Given the description of an element on the screen output the (x, y) to click on. 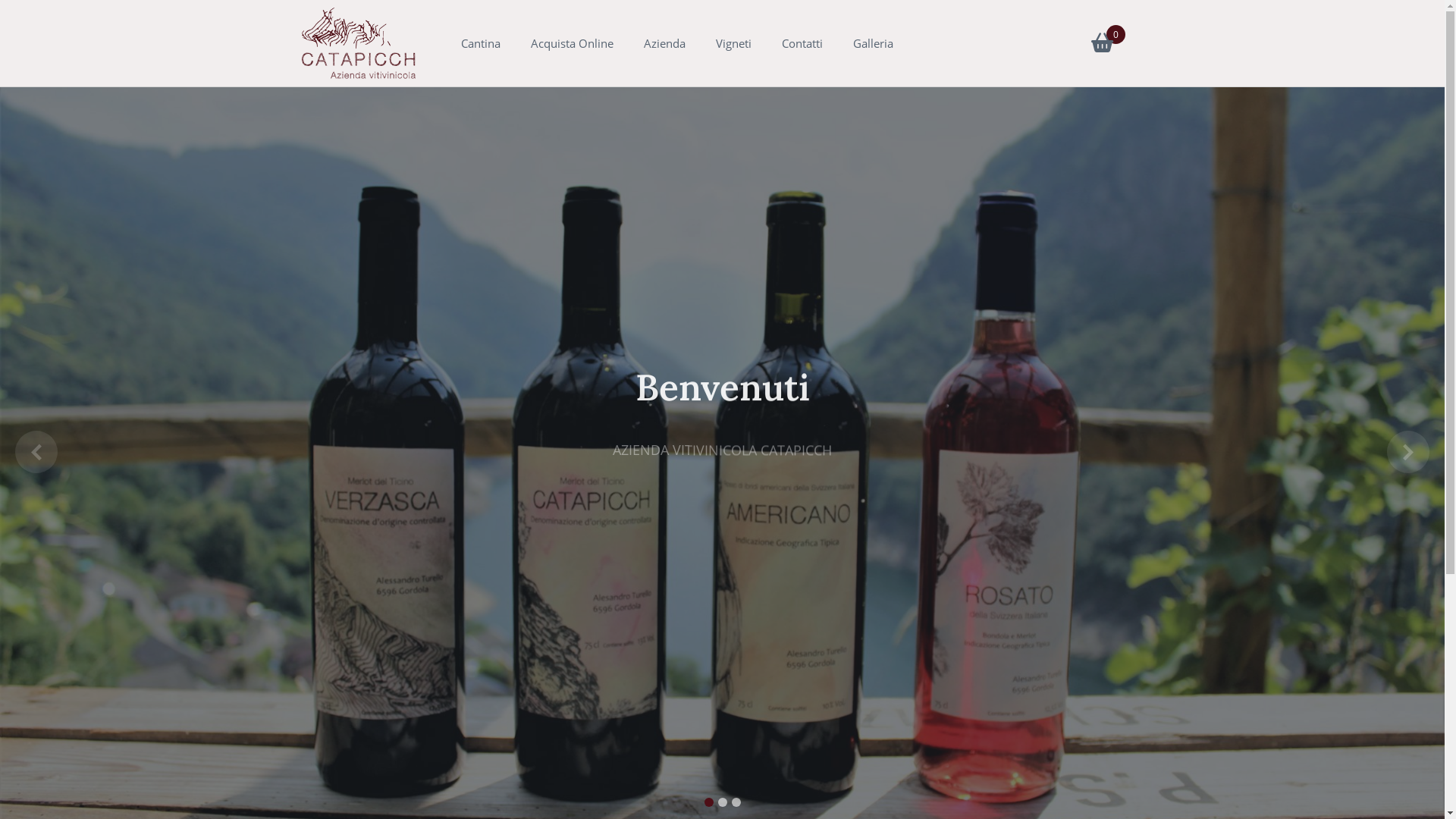
0 Element type: text (1101, 45)
Azienda Element type: text (663, 43)
Scopri di piu Element type: text (722, 486)
Cantina Element type: text (480, 43)
Contatti Element type: text (801, 43)
Galleria Element type: text (872, 43)
Vigneti Element type: text (733, 43)
Acquista Online Element type: text (571, 43)
